Given the description of an element on the screen output the (x, y) to click on. 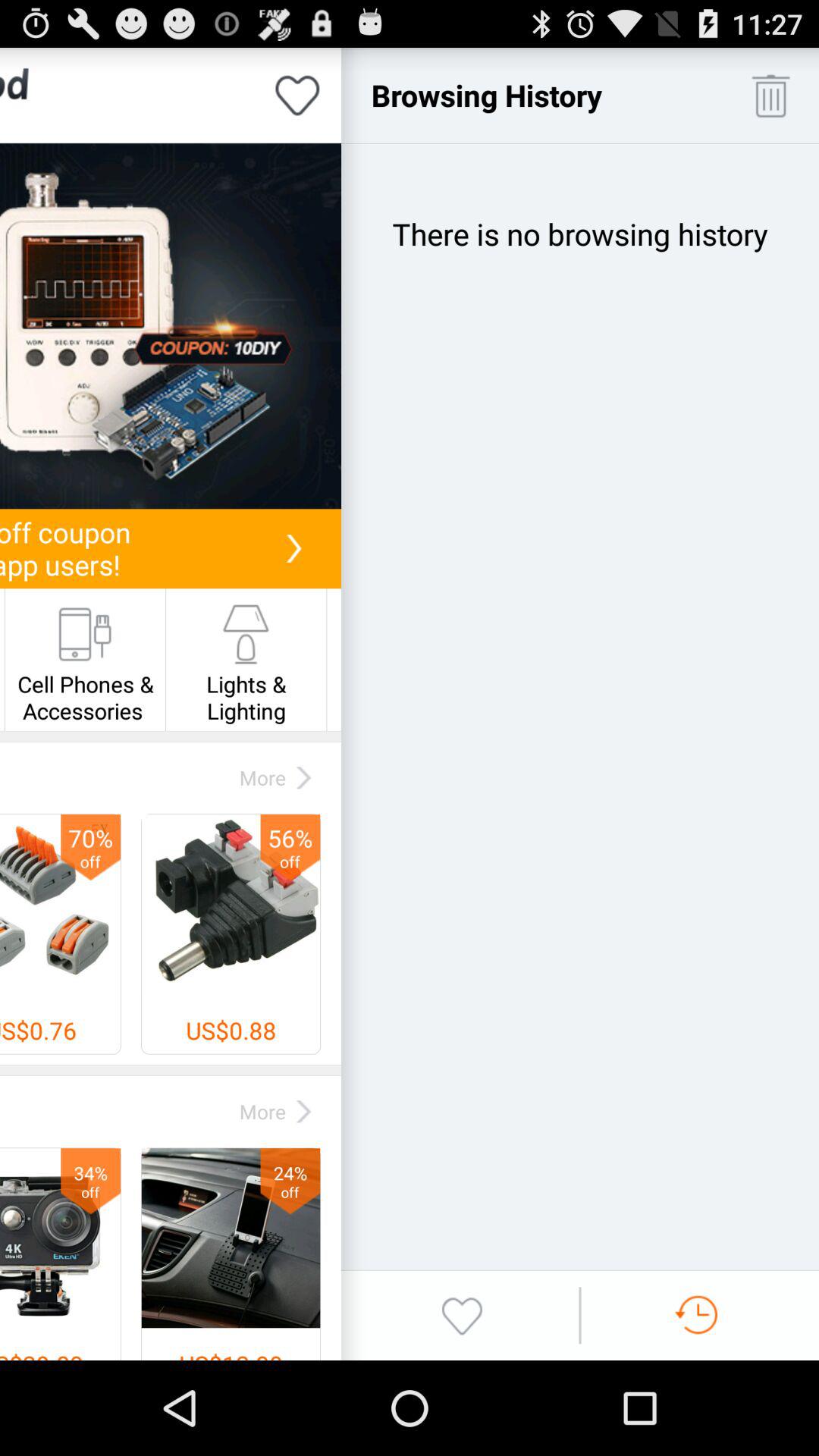
trash history (770, 95)
